Given the description of an element on the screen output the (x, y) to click on. 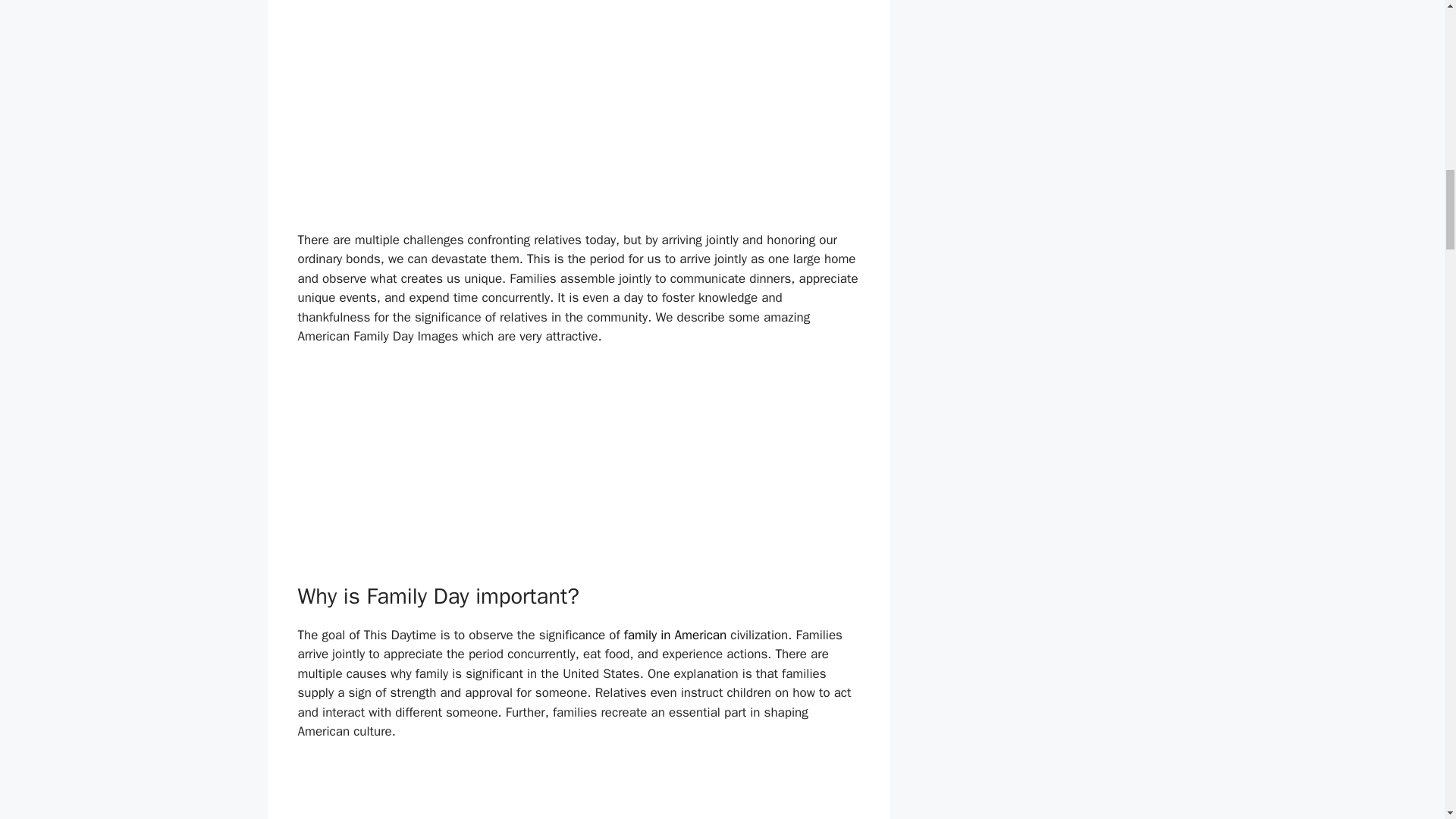
family in American (675, 634)
Advertisement (578, 105)
Advertisement (578, 471)
